Given the description of an element on the screen output the (x, y) to click on. 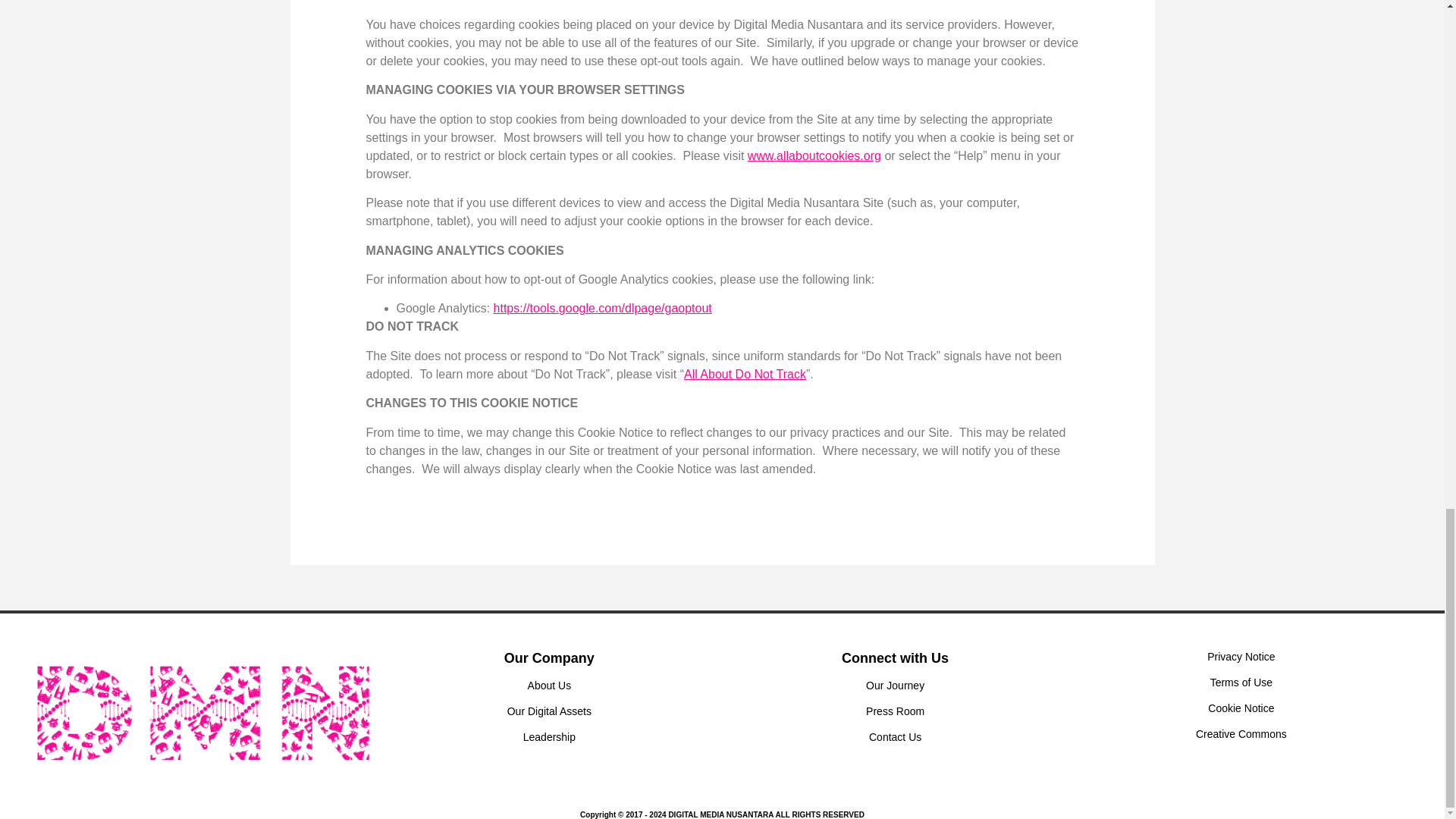
Our Digital Assets (548, 711)
About Us (549, 685)
Privacy Notice (1241, 656)
Creative Commons (1241, 734)
www.allaboutcookies.org (814, 155)
Cookie Notice (1241, 707)
Leadership (548, 736)
Our Journey (895, 685)
All About Do Not Track (745, 373)
Press Room (895, 711)
